Given the description of an element on the screen output the (x, y) to click on. 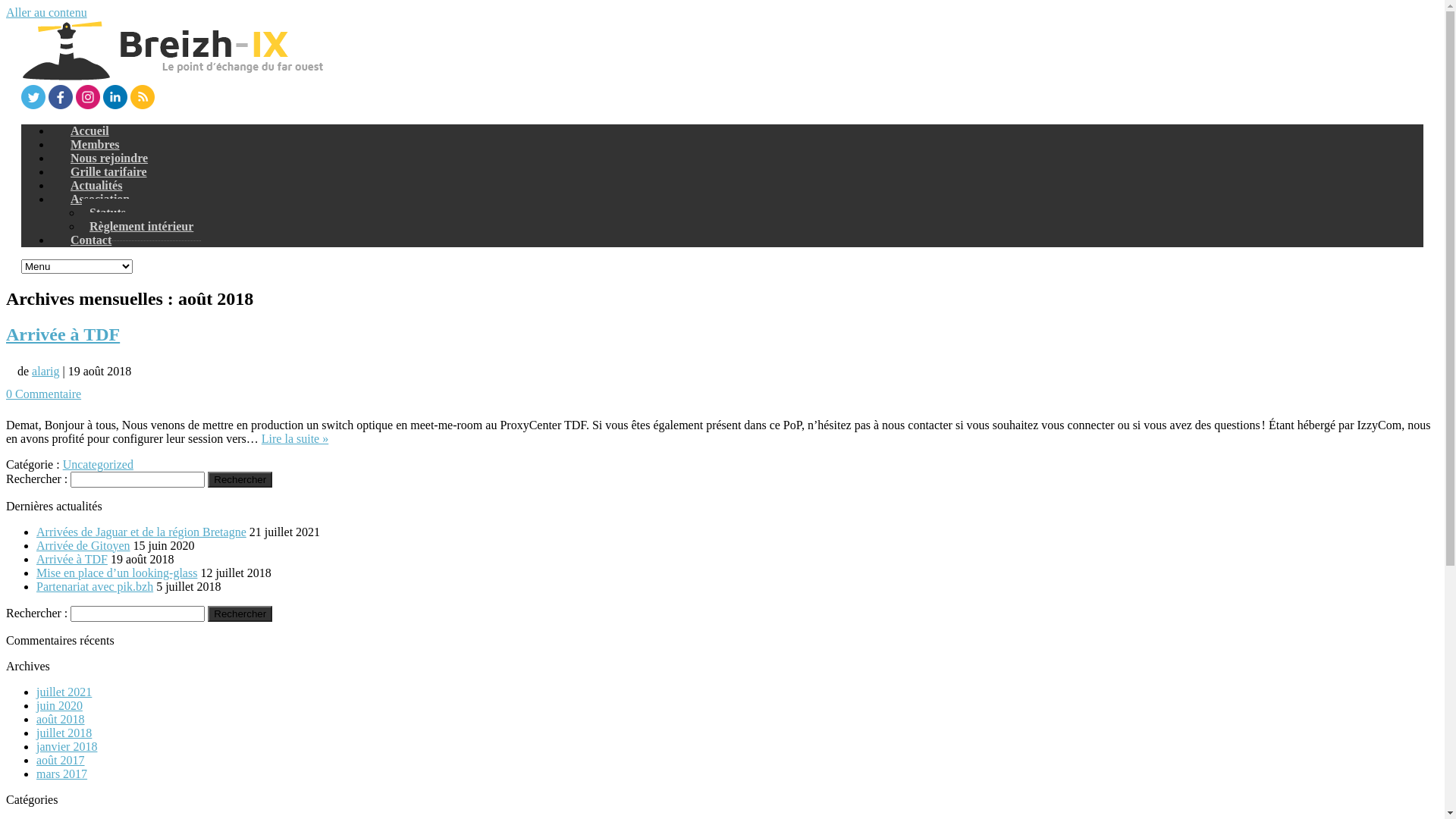
Membres Element type: text (94, 143)
0 Commentaire Element type: text (43, 393)
Association Element type: text (99, 198)
Breizh-IX Element type: hover (172, 77)
Grille tarifaire Element type: text (108, 171)
mars 2017 Element type: text (61, 773)
Uncategorized Element type: text (97, 464)
Rechercher Element type: text (239, 479)
Accueil Element type: text (89, 130)
juillet 2018 Element type: text (63, 732)
Partenariat avec pik.bzh Element type: text (94, 585)
juillet 2021 Element type: text (63, 691)
Aller au contenu Element type: text (46, 12)
Nous rejoindre Element type: text (108, 157)
janvier 2018 Element type: text (66, 746)
Rechercher Element type: text (239, 613)
Contact Element type: text (90, 239)
juin 2020 Element type: text (59, 705)
Statuts Element type: text (107, 212)
alarig Element type: text (45, 370)
